Given the description of an element on the screen output the (x, y) to click on. 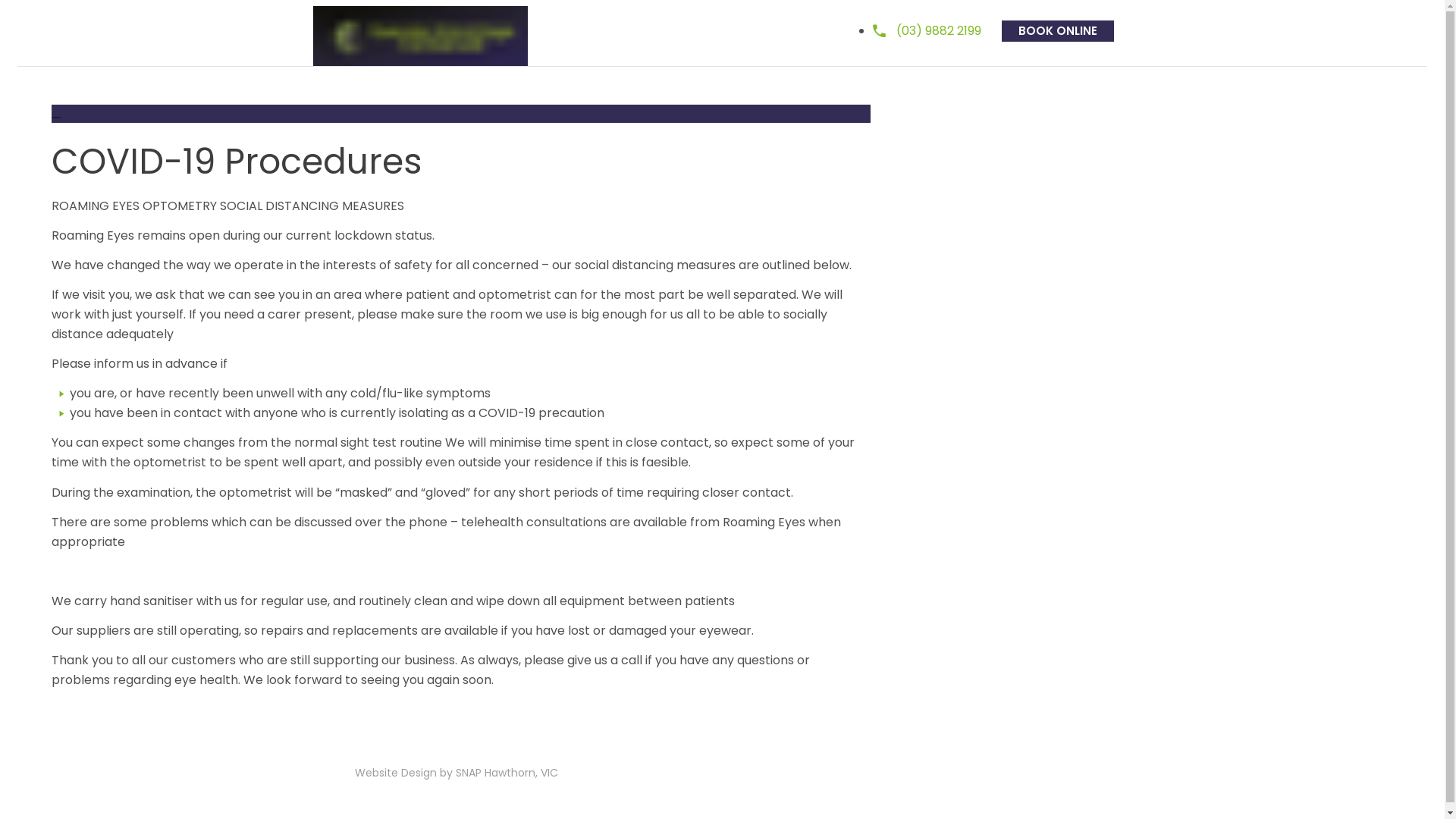
BOOK ONLINE Element type: text (1056, 30)
Website Design by SNAP Hawthorn, VIC Element type: text (449, 772)
Toggle navigation Element type: text (55, 117)
(03) 9882 2199 Element type: text (926, 30)
Toggle navigation Element type: text (572, 39)
